Given the description of an element on the screen output the (x, y) to click on. 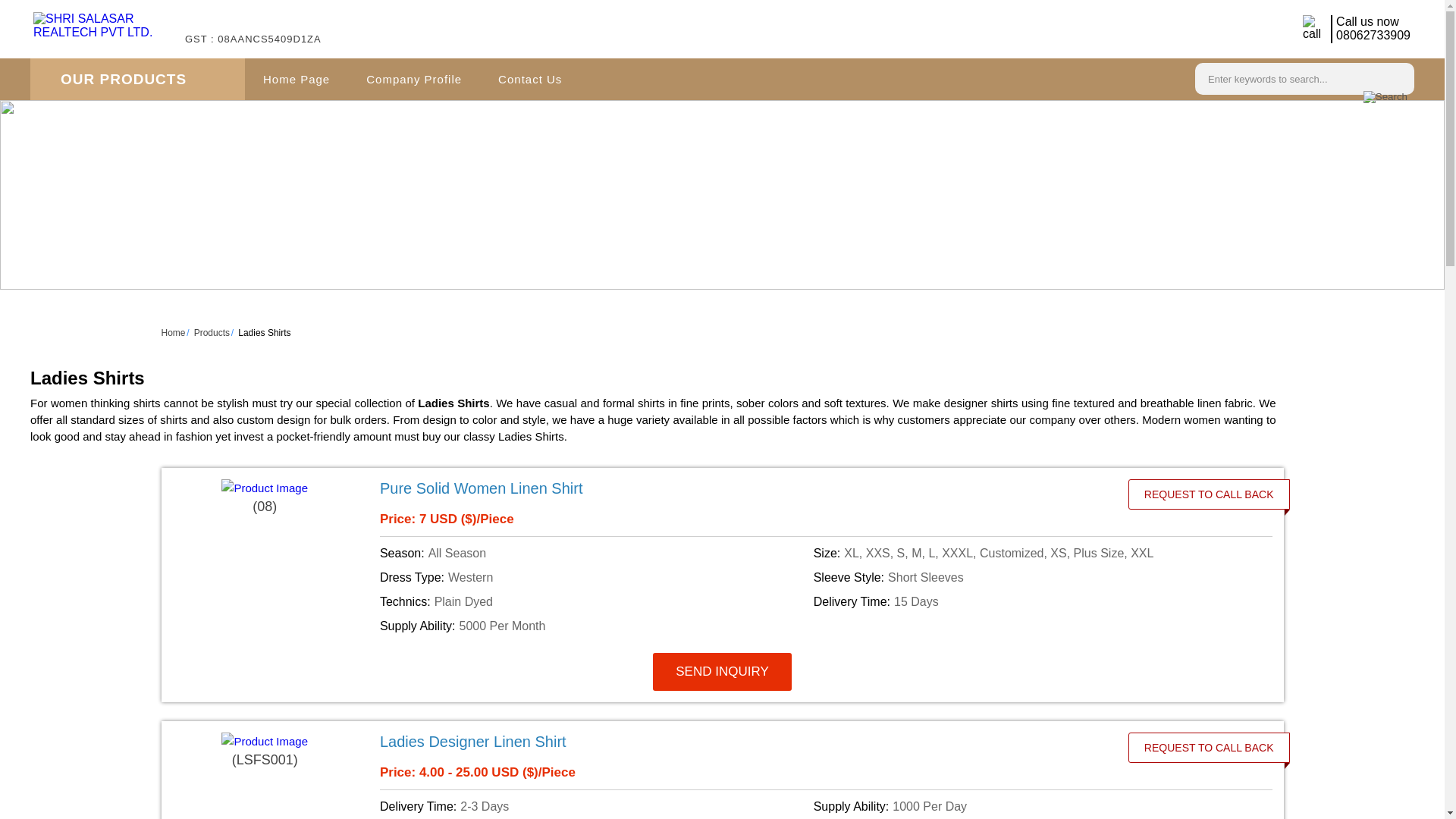
submit (1384, 96)
Ladies Designer Linen Shirt (473, 741)
REQUEST TO CALL BACK (1208, 493)
Company Profile (413, 78)
SEND INQUIRY (722, 671)
Pure Solid Women Linen Shirt (481, 487)
Size: XL, XXS, S, M, L, XXXL, Customized, XS, Plus Size, XXL (1027, 553)
GST : 08AANCS5409D1ZA (253, 47)
Dress Type: Western (594, 577)
Pure Solid Women Linen Shirt (736, 488)
Contact Us (529, 78)
Ladies Designer Linen Shirt (736, 741)
Season: All Season (594, 553)
Delivery Time: 15 Days (1027, 601)
Enter keywords to search... (1286, 76)
